Given the description of an element on the screen output the (x, y) to click on. 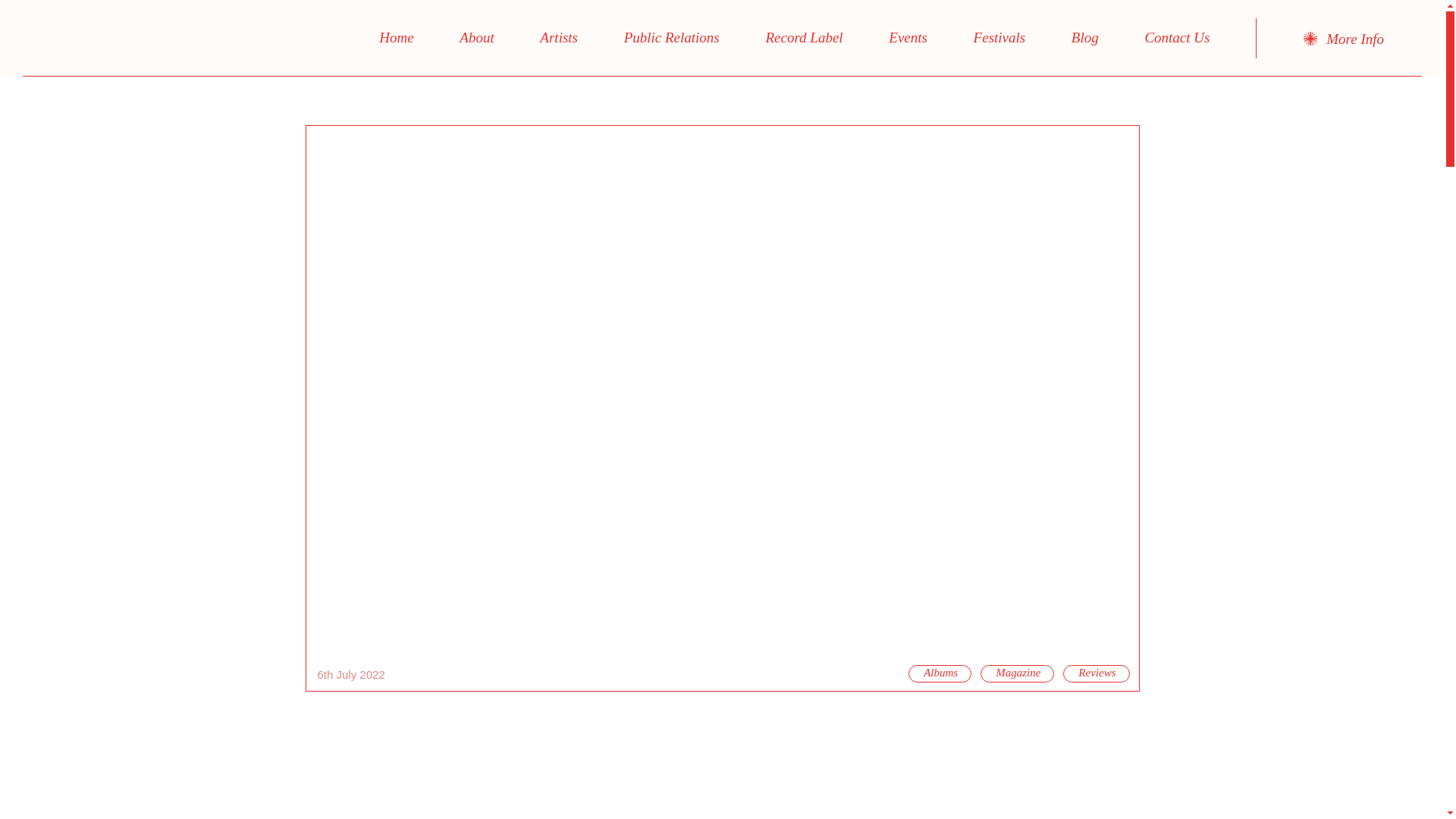
Contact Us (1176, 38)
Record Label (804, 38)
Public Relations (671, 38)
Festivals (998, 38)
More Info (1343, 38)
